Given the description of an element on the screen output the (x, y) to click on. 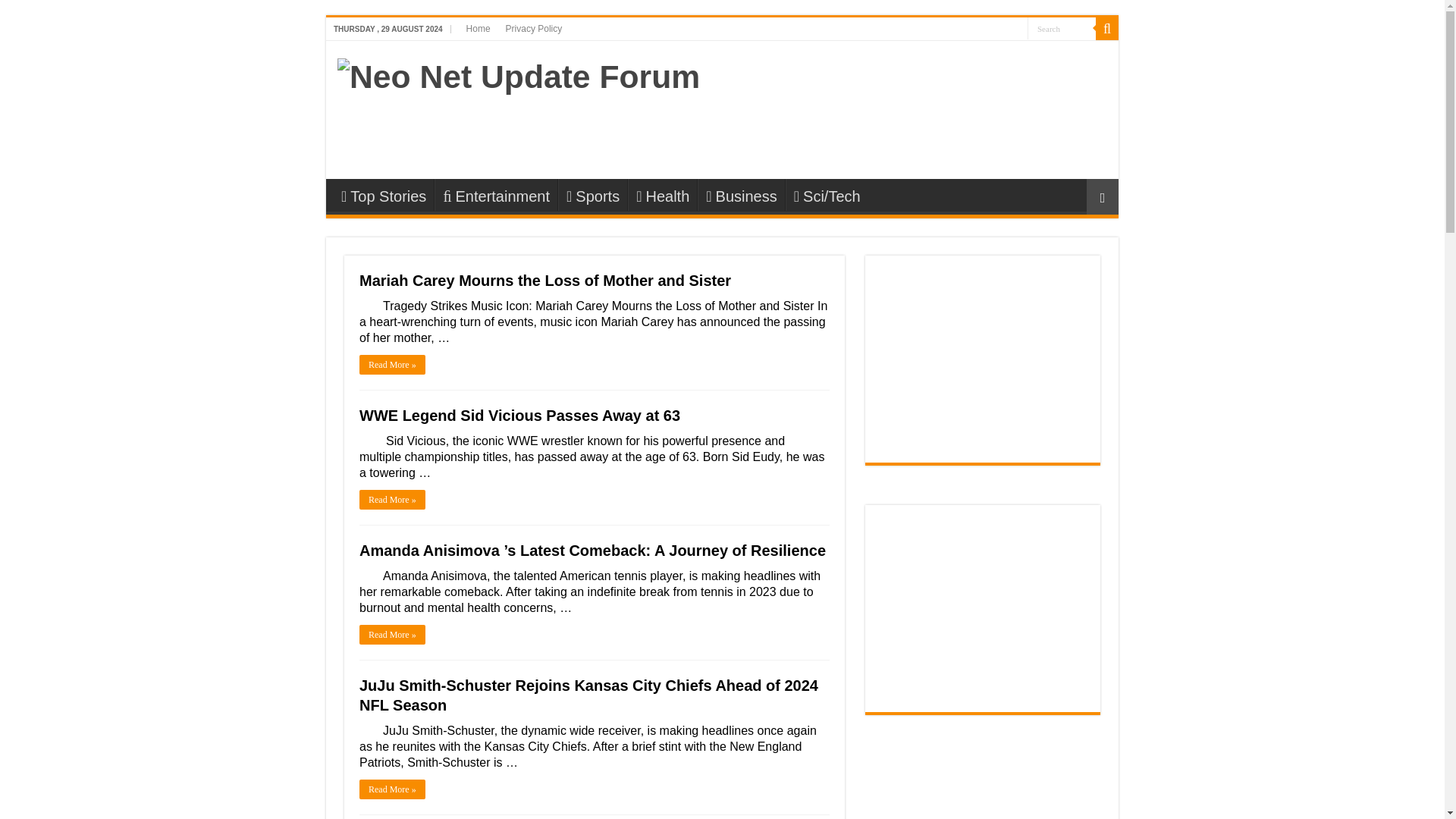
Search (1061, 28)
Neo Net Update Forum (518, 74)
Sports (592, 194)
Top Stories (383, 194)
Privacy Policy (533, 28)
Health (662, 194)
Business (740, 194)
WWE Legend Sid Vicious Passes Away at 63 (519, 415)
Entertainment (495, 194)
Mariah Carey Mourns the Loss of Mother and Sister (544, 280)
